Given the description of an element on the screen output the (x, y) to click on. 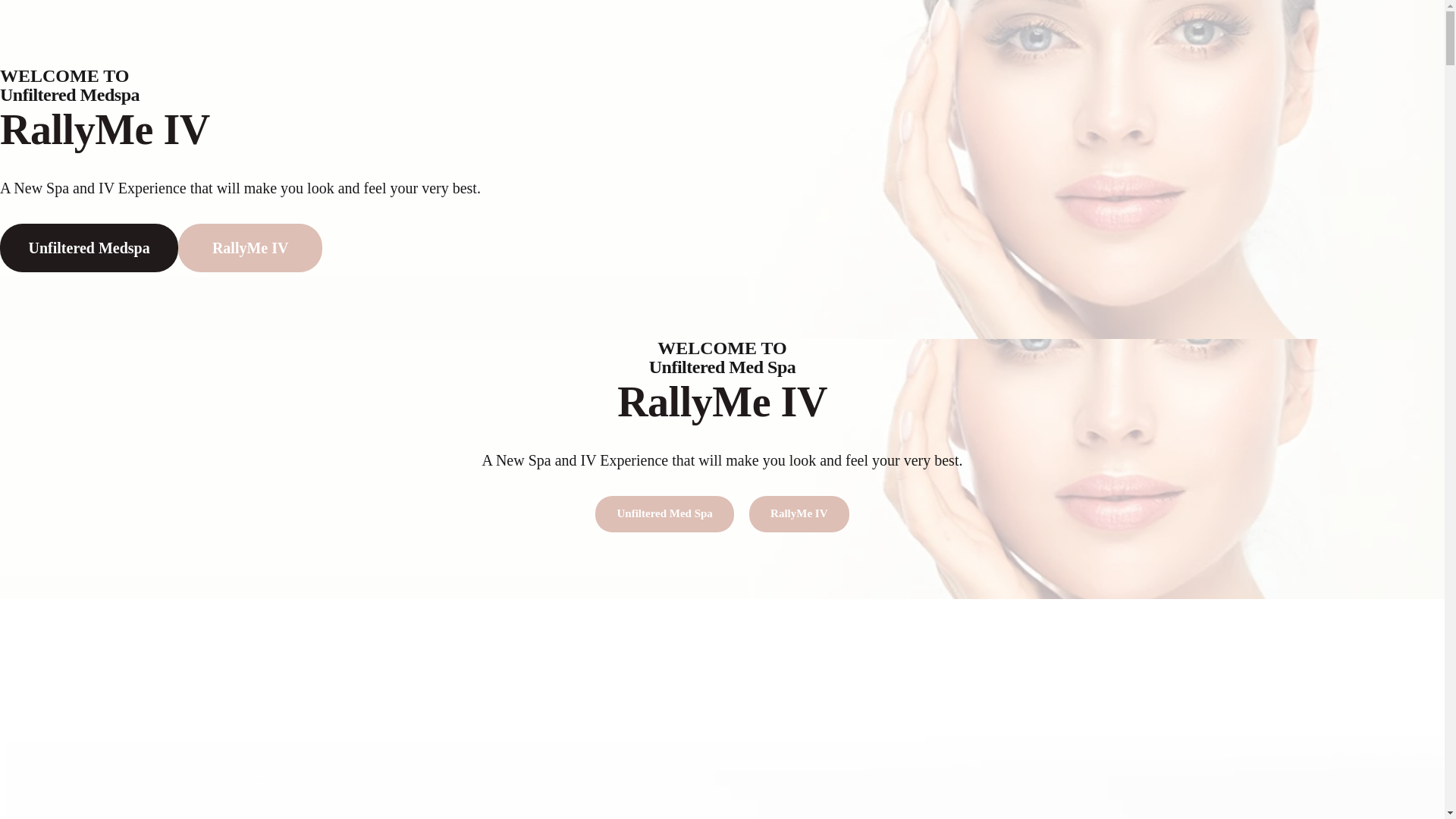
Rally Me IV Menu (721, 459)
CONTACT US (996, 794)
Unfiltered Medspa (88, 247)
E-GIFT CARD (913, 794)
BOOK ONLINE (826, 794)
GALLERY (748, 794)
RallyMe IV (798, 514)
Privacy Policy (973, 766)
Unfiltered Medspa (88, 247)
HOME (430, 794)
